Given the description of an element on the screen output the (x, y) to click on. 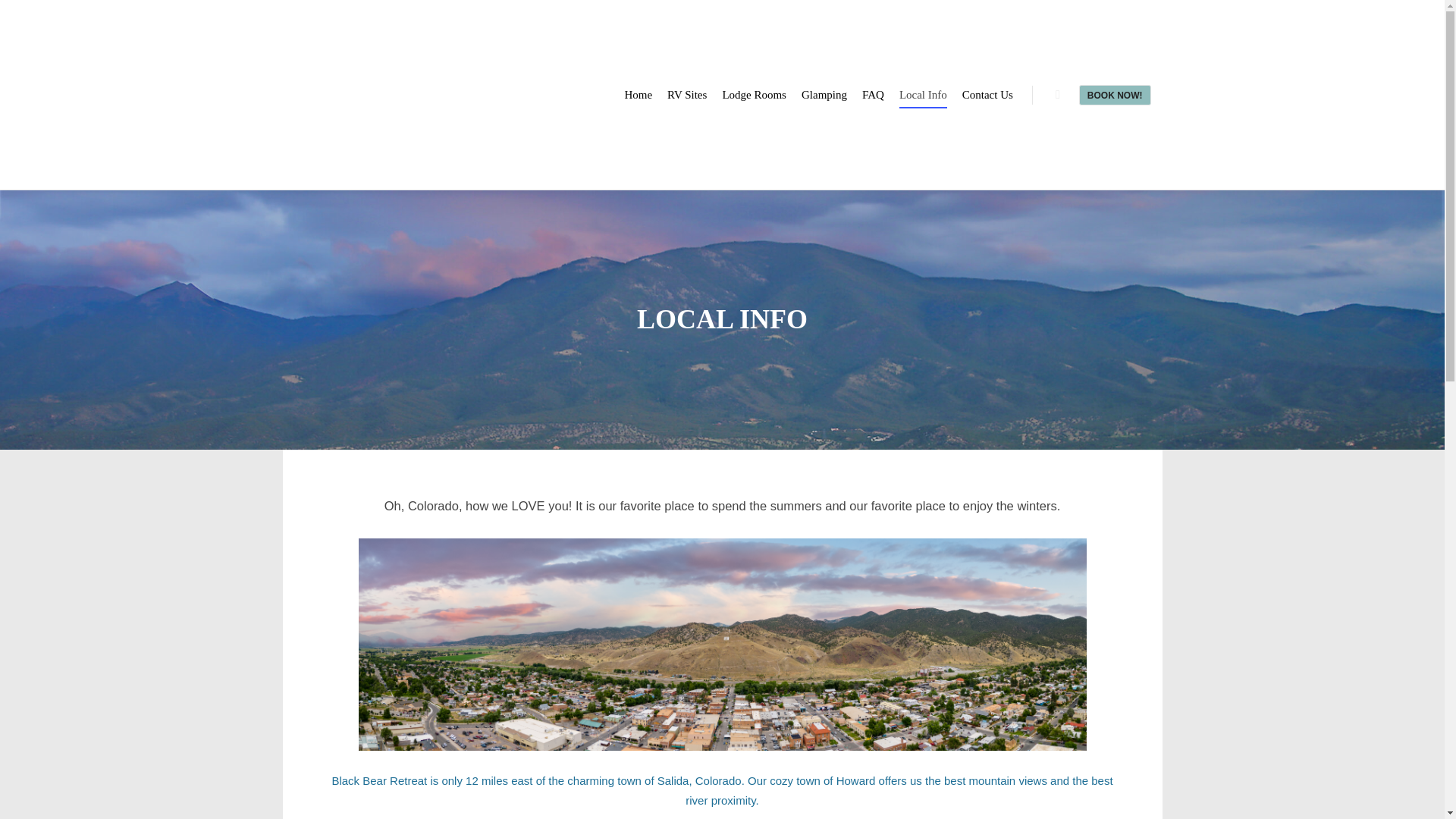
BOOK NOW! (1114, 95)
Black Bear RV Park (357, 94)
Search (1057, 94)
Search (1057, 94)
